Given the description of an element on the screen output the (x, y) to click on. 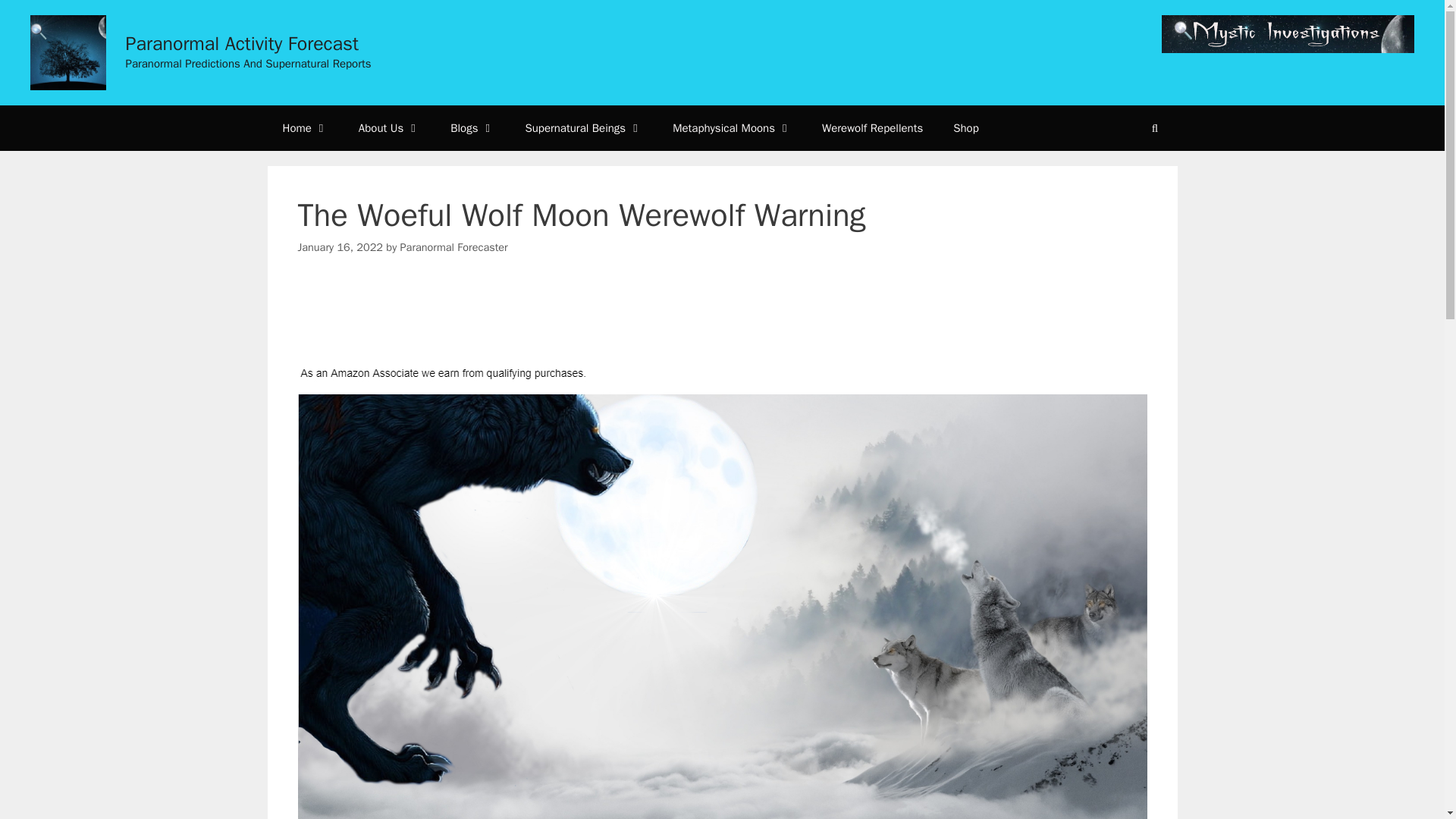
Werewolf Repellents (871, 127)
Metaphysical Moons (732, 127)
Home (304, 127)
About Us (389, 127)
Blogs (472, 127)
Paranormal Activity Forecast (242, 43)
Shop (965, 127)
View all posts by Paranormal Forecaster (454, 246)
Paranormal Forecaster (454, 246)
Supernatural Beings (583, 127)
